Given the description of an element on the screen output the (x, y) to click on. 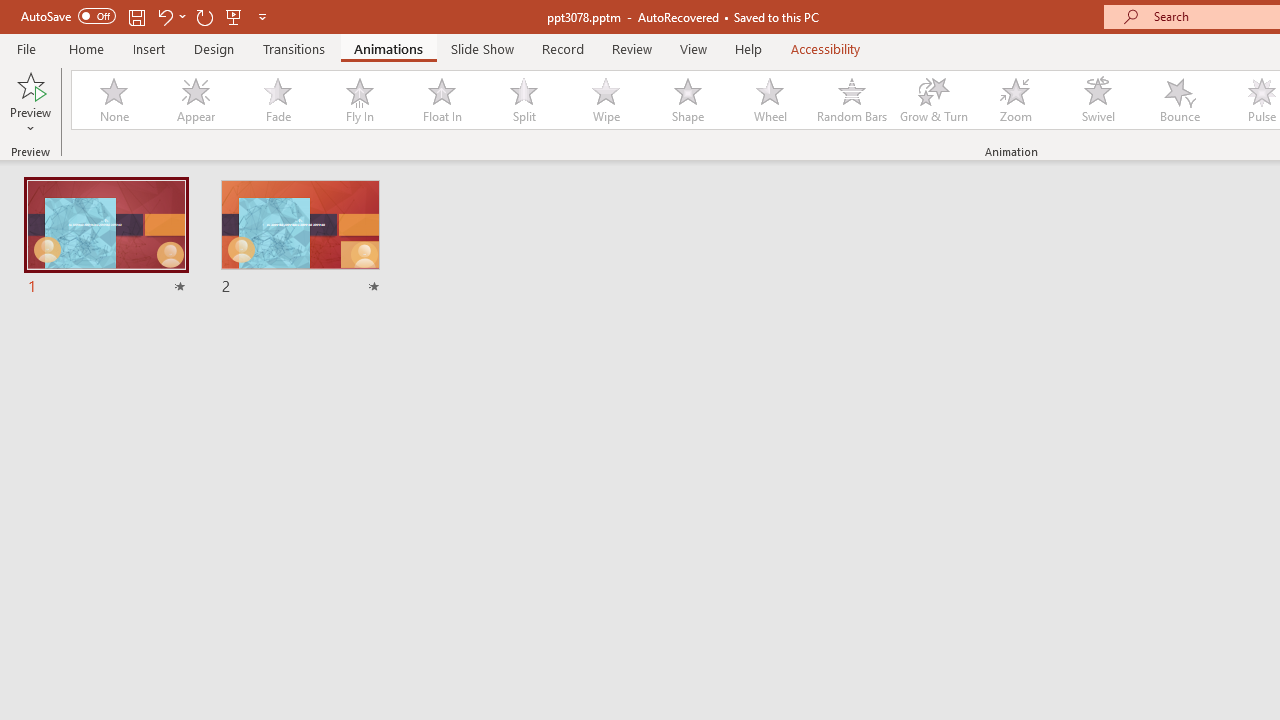
Appear (195, 100)
Wipe (605, 100)
Bounce (1180, 100)
